Given the description of an element on the screen output the (x, y) to click on. 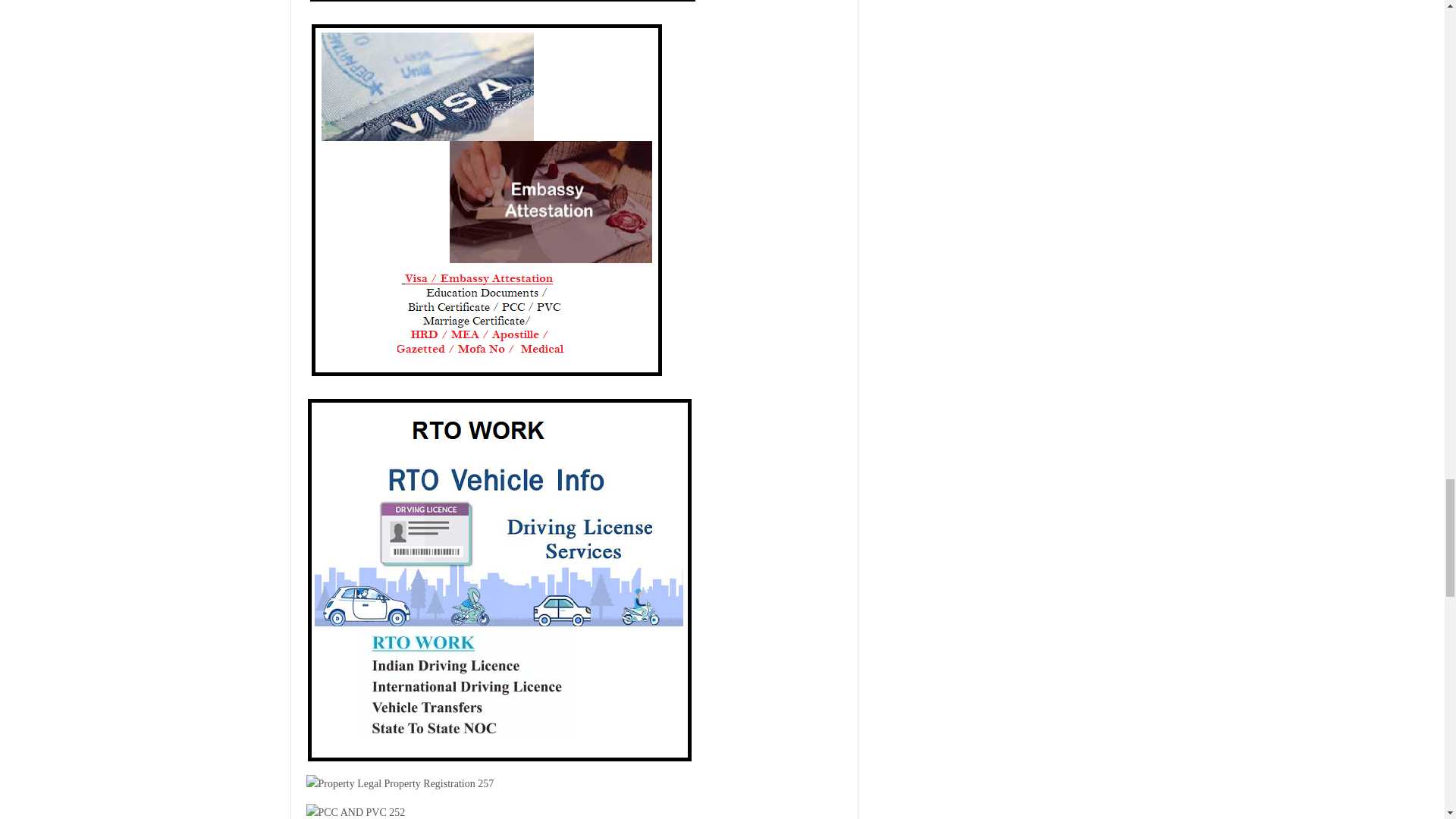
Best Passport Agents in Bengaluru Anjanapura 9632025749 2 (502, 3)
Best Passport Agents in Bengaluru Anjanapura 9632025749 6 (355, 811)
Best Passport Agents in Bengaluru Anjanapura 9632025749 5 (400, 783)
